Given the description of an element on the screen output the (x, y) to click on. 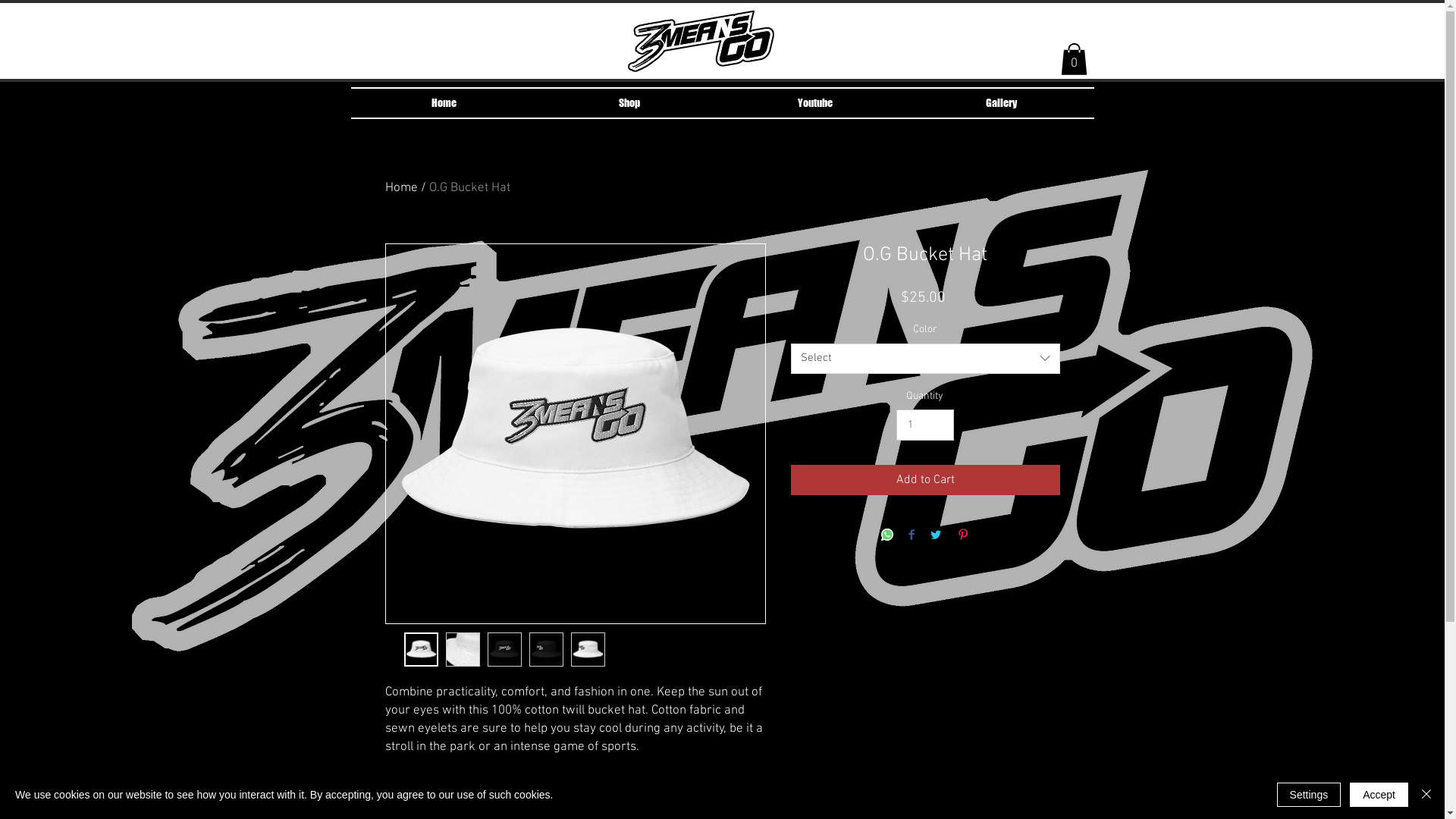
0 Element type: text (1073, 59)
2_edited.png Element type: hover (699, 40)
Add to Cart Element type: text (924, 479)
Settings Element type: text (1309, 794)
Youtube Element type: text (814, 102)
Shop Element type: text (629, 102)
O.G Bucket Hat Element type: text (469, 187)
Home Element type: text (401, 187)
Select Element type: text (924, 358)
Accept Element type: text (1378, 794)
Home Element type: text (443, 102)
Gallery Element type: text (1001, 102)
